Given the description of an element on the screen output the (x, y) to click on. 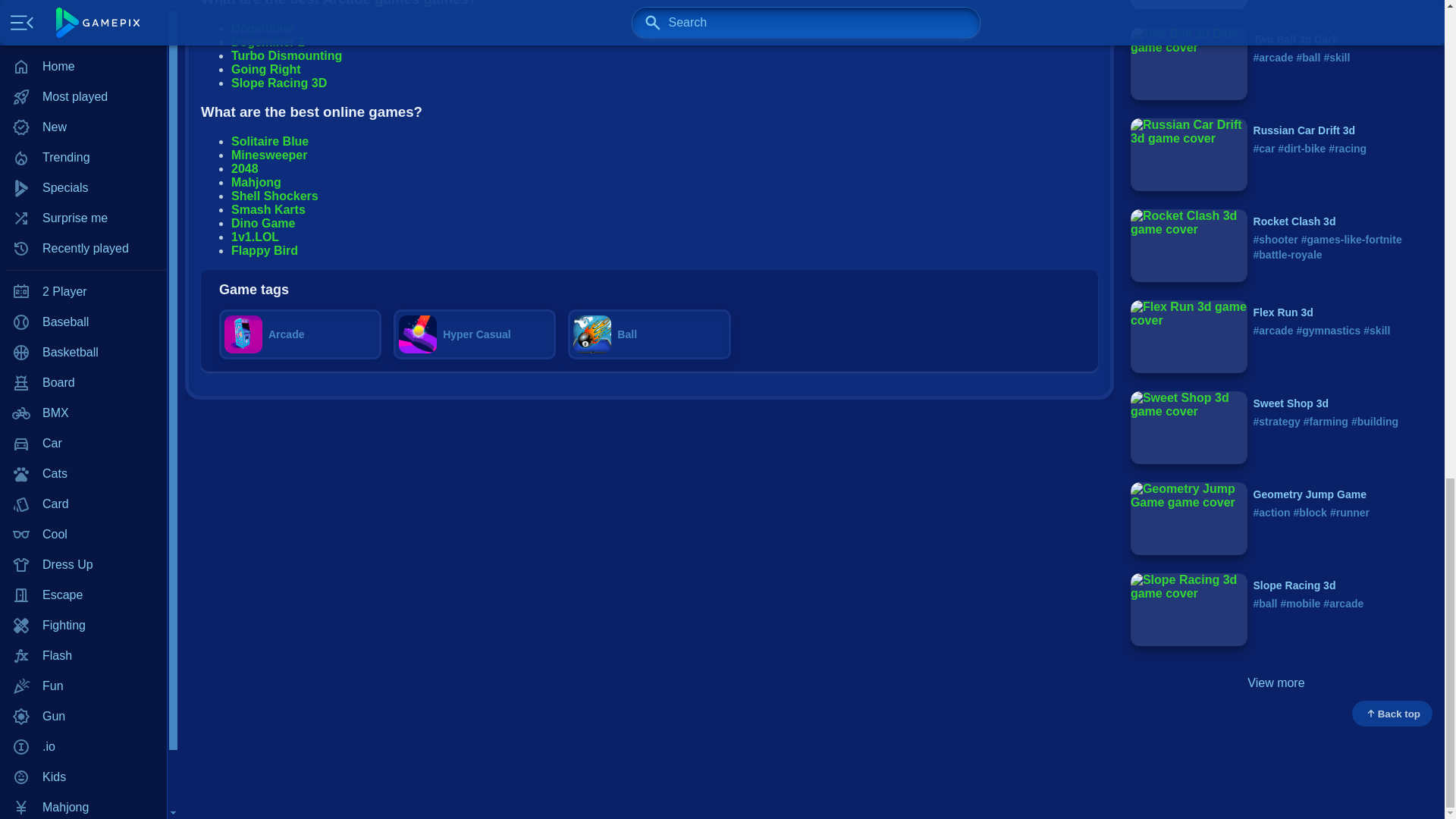
Zombie (83, 41)
Word (83, 13)
